Given the description of an element on the screen output the (x, y) to click on. 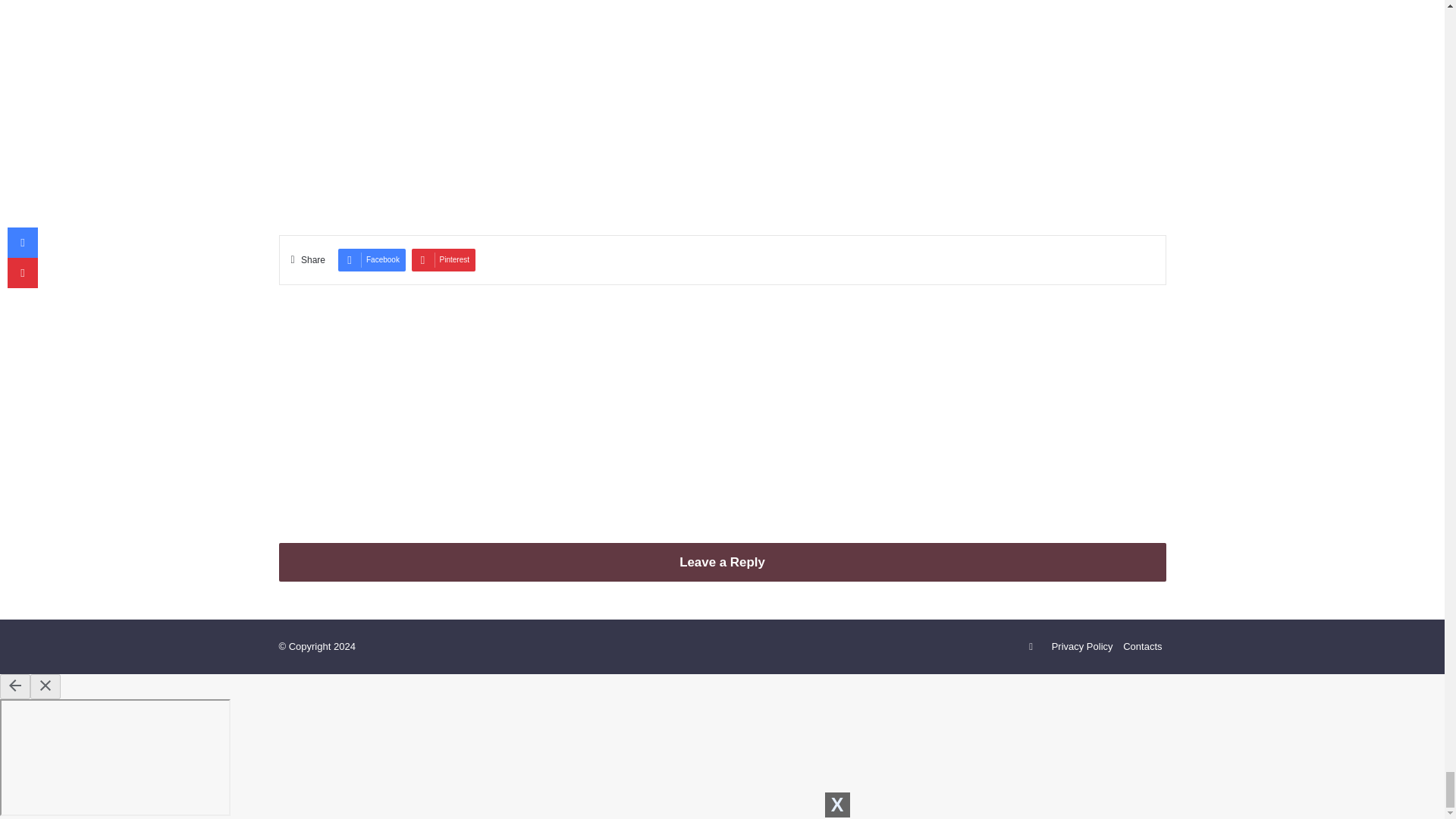
Leave a Reply (722, 561)
Pinterest (444, 259)
Pinterest (444, 259)
Facebook (371, 259)
Facebook (371, 259)
Contacts (1141, 645)
Privacy Policy (1082, 645)
Pinterest (1031, 647)
